Given the description of an element on the screen output the (x, y) to click on. 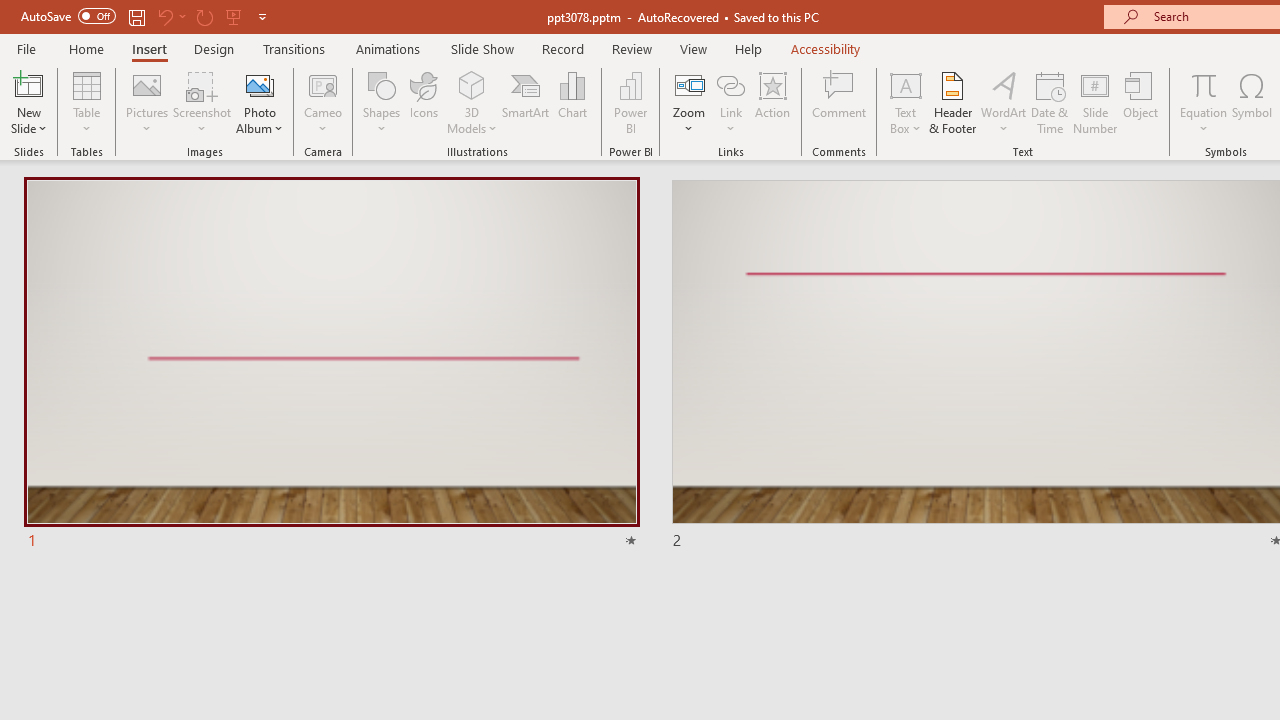
Date & Time... (1050, 102)
WordArt (1004, 102)
Pictures (147, 102)
Header & Footer... (952, 102)
Icons (424, 102)
Chart... (572, 102)
SmartArt... (525, 102)
3D Models (472, 102)
